Given the description of an element on the screen output the (x, y) to click on. 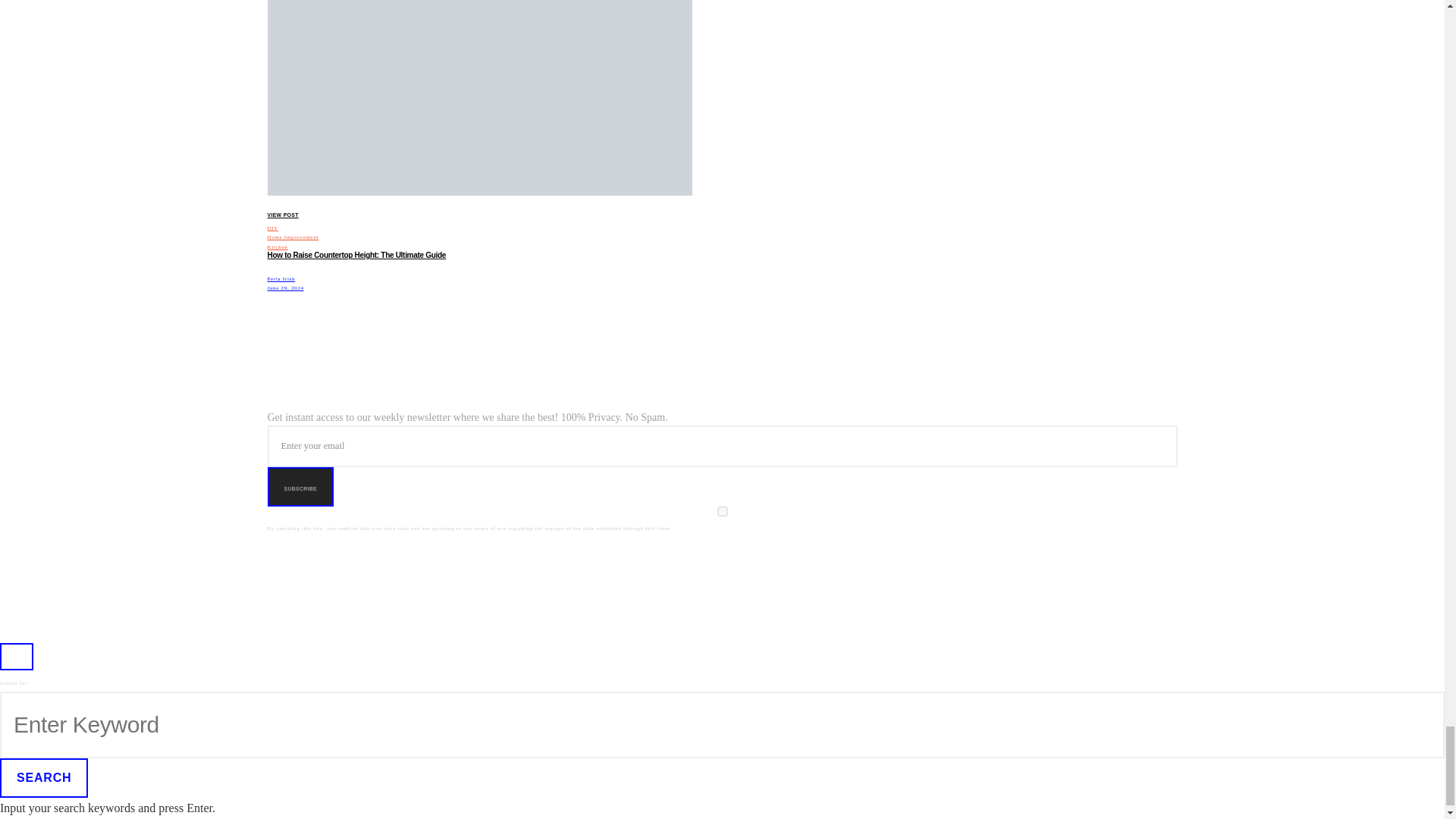
View all posts by Perla Irish (280, 278)
